Given the description of an element on the screen output the (x, y) to click on. 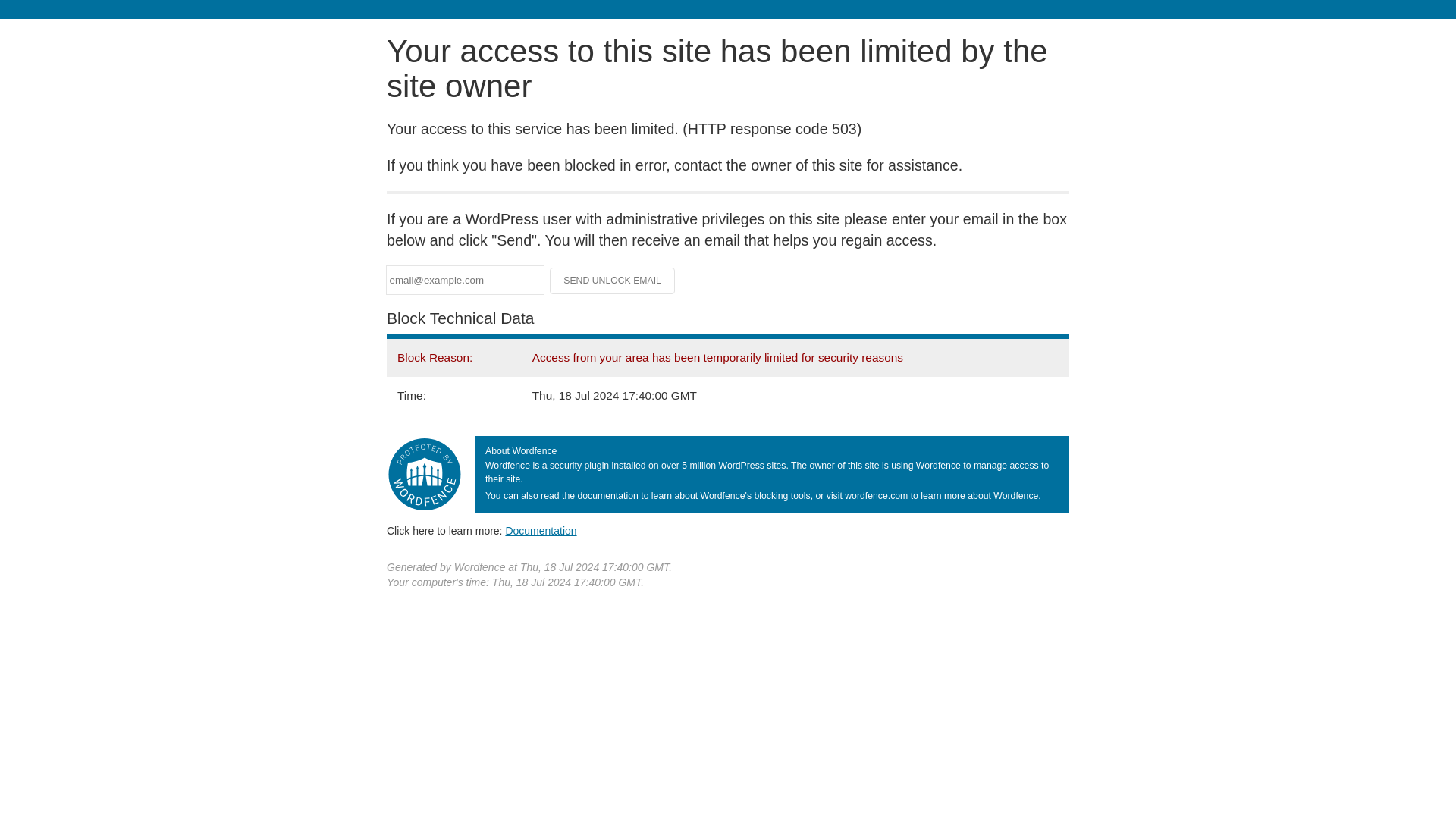
Send Unlock Email (612, 280)
Send Unlock Email (612, 280)
